Given the description of an element on the screen output the (x, y) to click on. 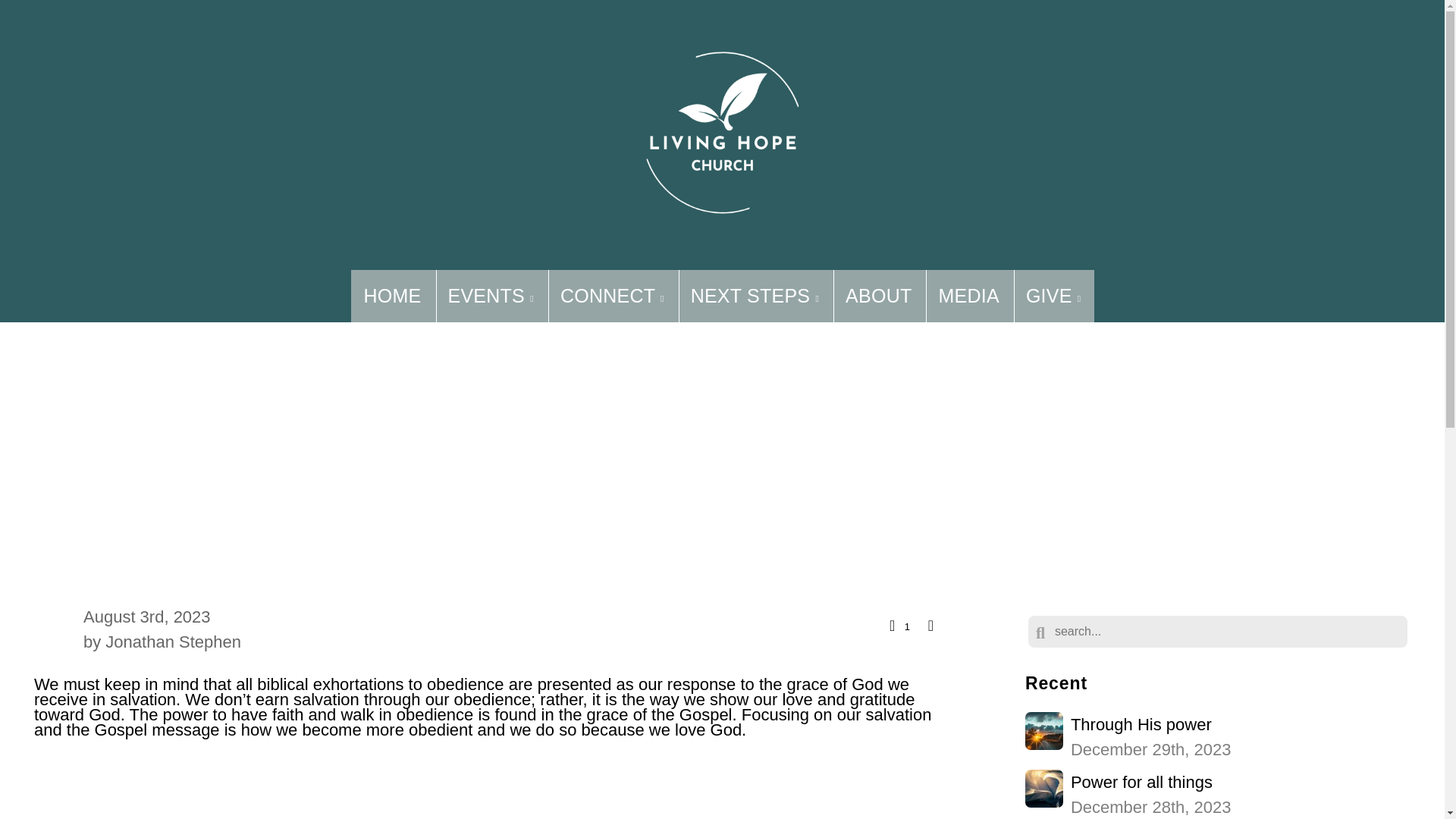
ABOUT (1217, 736)
CONNECT  (877, 296)
MEDIA (611, 296)
GIVE  (968, 296)
1 (1053, 296)
HOME (898, 624)
NEXT STEPS  (392, 296)
EVENTS  (753, 296)
Copy to Clipboard (489, 296)
